Given the description of an element on the screen output the (x, y) to click on. 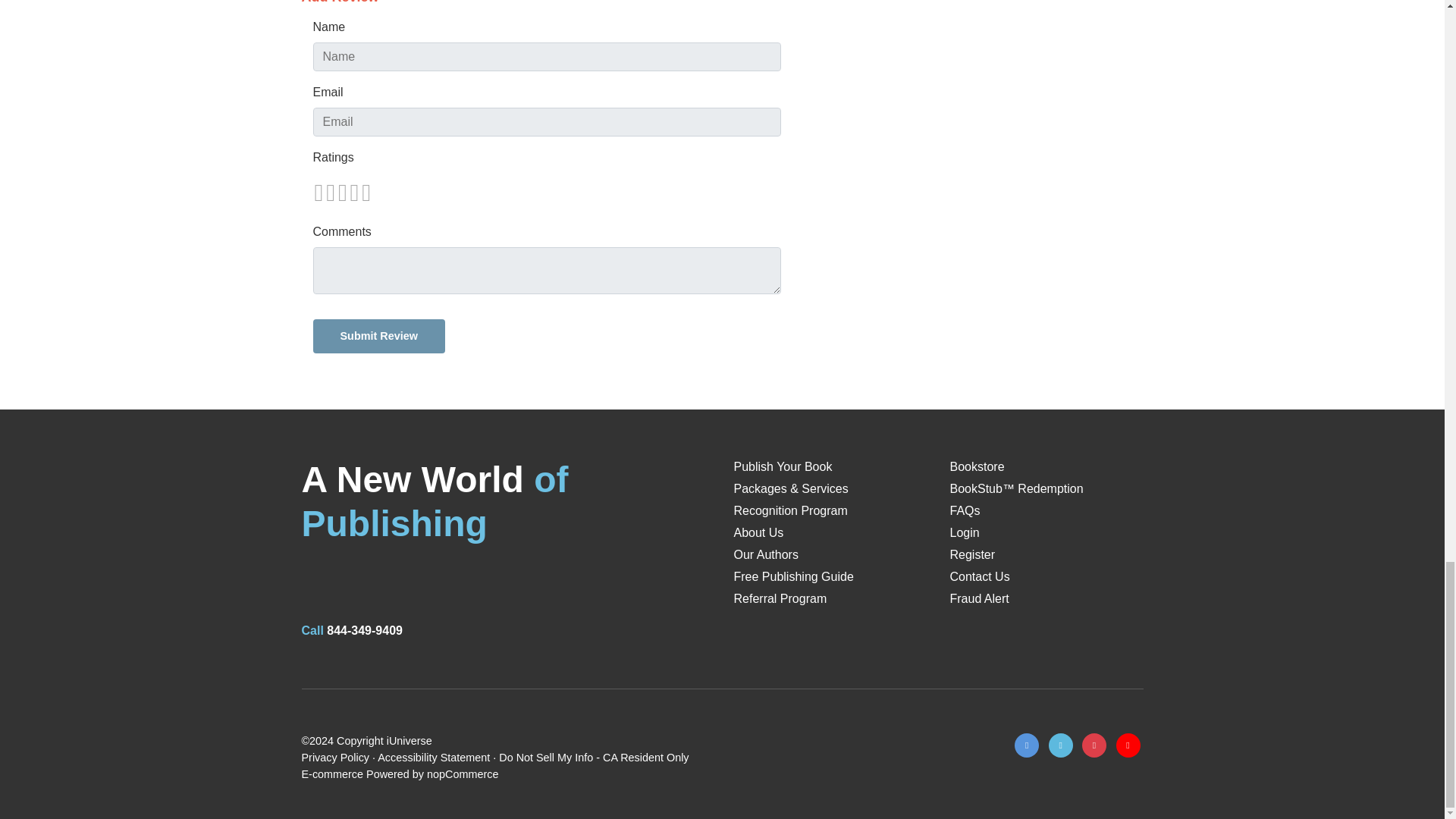
Our Authors (765, 554)
About Us (758, 532)
Free Publishing Guide (793, 576)
Publish Your Book (782, 466)
Submit Review (378, 335)
844-349-9409 (364, 630)
Bookstore (976, 466)
Recognition Program (790, 510)
Submit Review (378, 335)
Not Rated (342, 192)
Referral Program (780, 598)
